Given the description of an element on the screen output the (x, y) to click on. 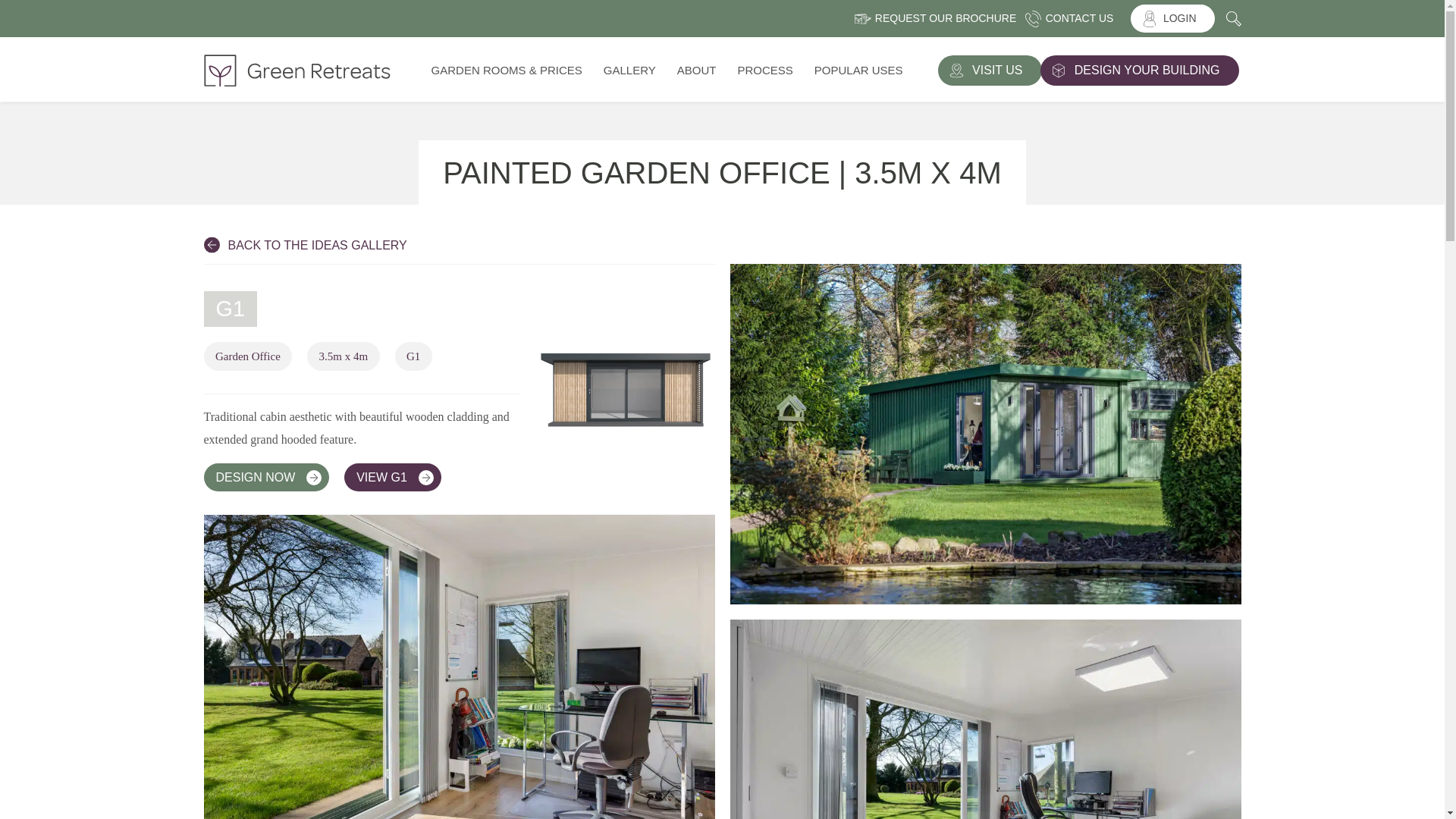
Contact Us (1073, 18)
REQUEST OUR BROCHURE (939, 18)
Customer reviews powered by Trustpilot (354, 17)
CONTACT US (1073, 18)
Request Our Brochure (939, 18)
LOGIN (1172, 18)
ABOUT (696, 70)
Login (1172, 18)
GALLERY (629, 70)
